Given the description of an element on the screen output the (x, y) to click on. 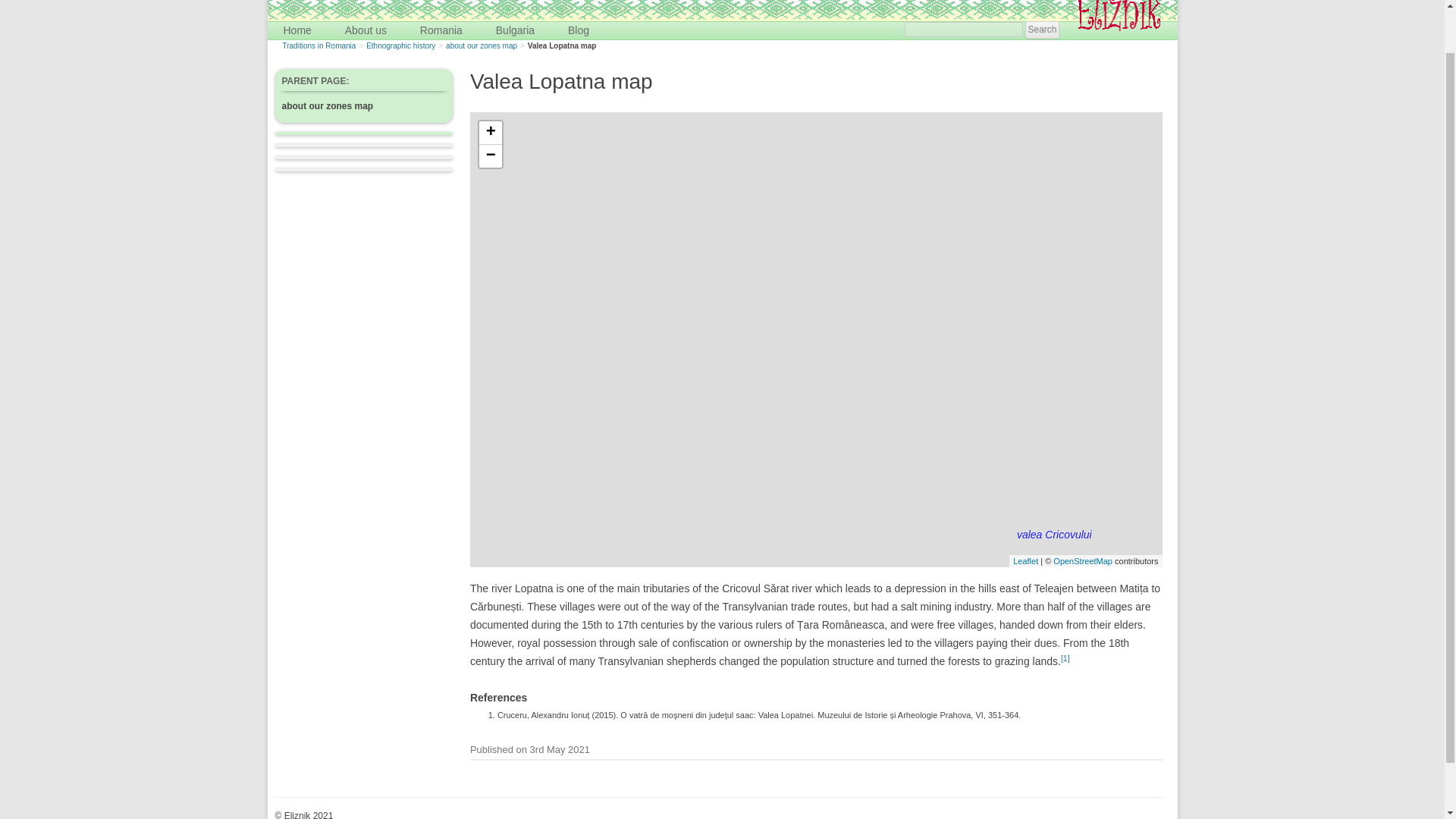
Home (296, 30)
Valea Lopatna map (561, 45)
The Eliznik pages (345, 1)
Romania (441, 30)
About us (366, 30)
Search (1041, 29)
Zoom in (490, 132)
A JS library for interactive maps (1025, 560)
Traditions in Romania (318, 45)
about our zones map (480, 45)
The Eliznik pages (345, 1)
Traditional clothing (496, 49)
Ethnographic history (400, 45)
